Given the description of an element on the screen output the (x, y) to click on. 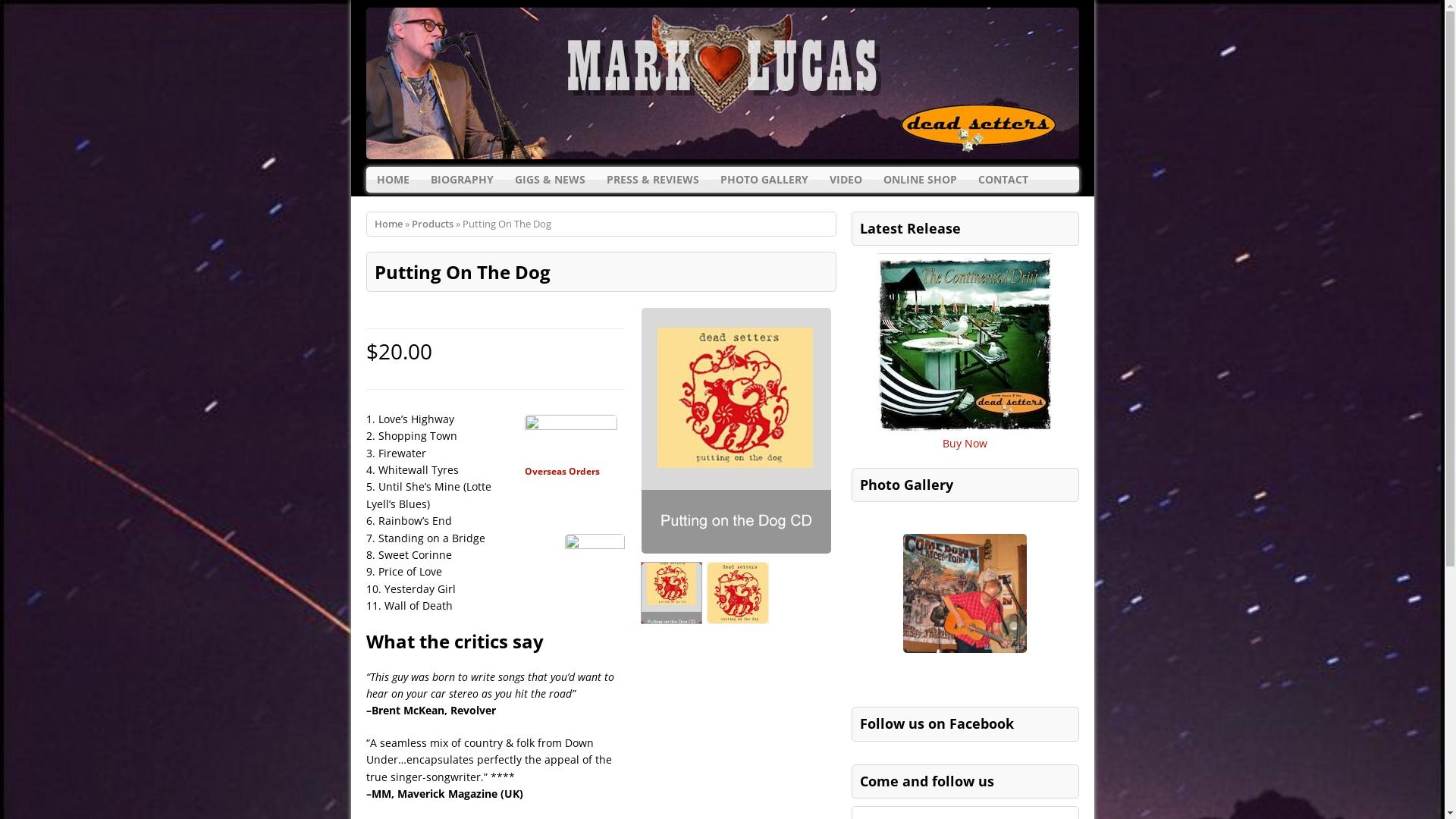
HOME Element type: text (392, 179)
BIOGRAPHY Element type: text (462, 179)
PHOTO GALLERY Element type: text (764, 179)
Overseas Orders Element type: text (561, 470)
Buy Now Element type: text (964, 443)
Empire Hotel, Annandale
7th Nov 2004 Element type: hover (964, 592)
ONLINE SHOP Element type: text (919, 179)
GIGS & NEWS Element type: text (549, 179)
CONTACT Element type: text (1002, 179)
Home Element type: text (388, 223)
PRESS & REVIEWS Element type: text (652, 179)
VIDEO Element type: text (845, 179)
Products Element type: text (431, 223)
Mark Lucas Element type: hover (721, 83)
